Given the description of an element on the screen output the (x, y) to click on. 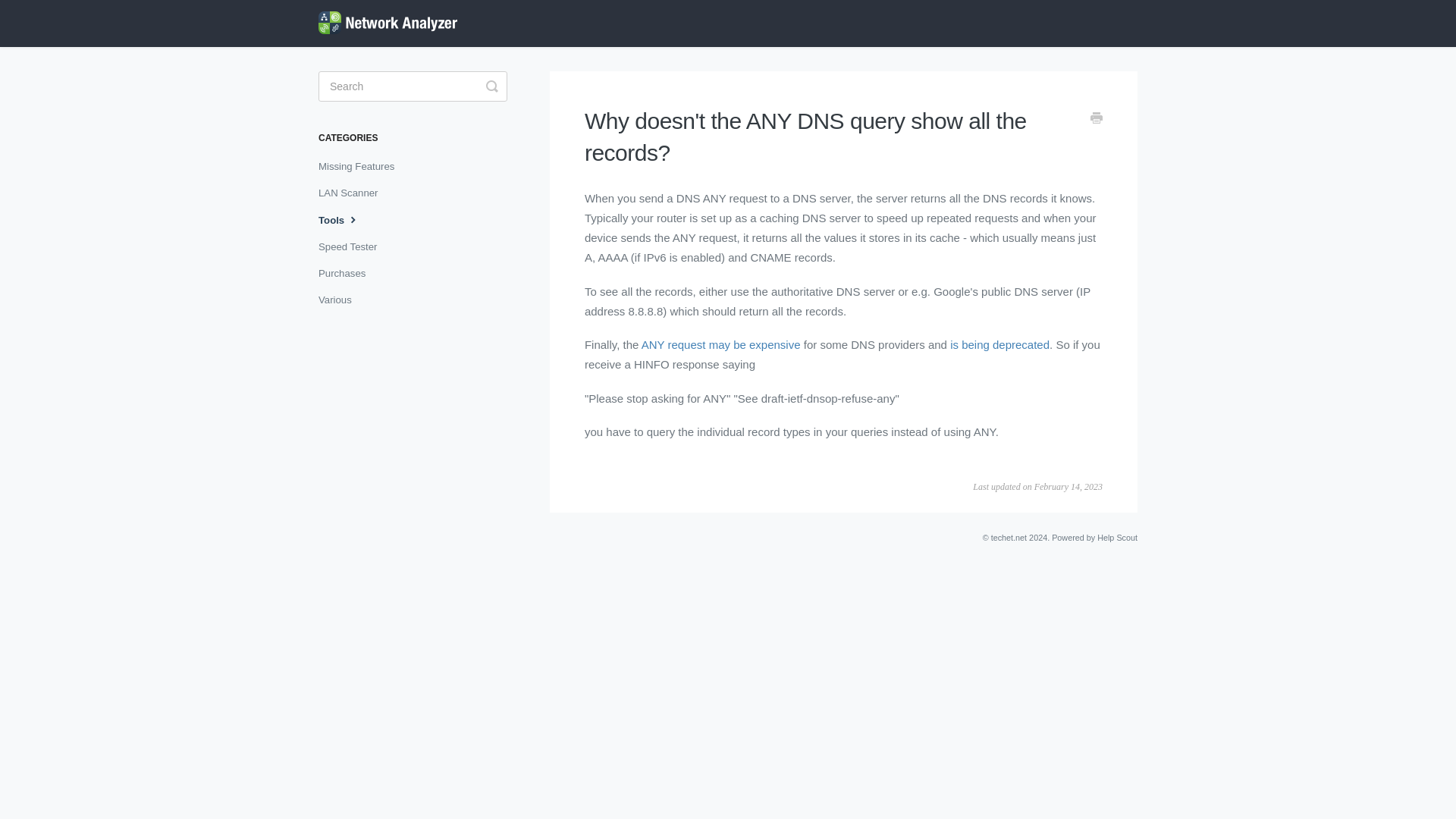
is being deprecated (999, 344)
Tools (345, 220)
Missing Features (362, 166)
Purchases (347, 273)
Various (340, 300)
search-query (412, 86)
LAN Scanner (353, 192)
ANY request may be expensive (721, 344)
Help Scout (1117, 537)
Speed Tester (353, 247)
Print this article (1096, 119)
techet.net (1008, 537)
Toggle Search (491, 86)
